Given the description of an element on the screen output the (x, y) to click on. 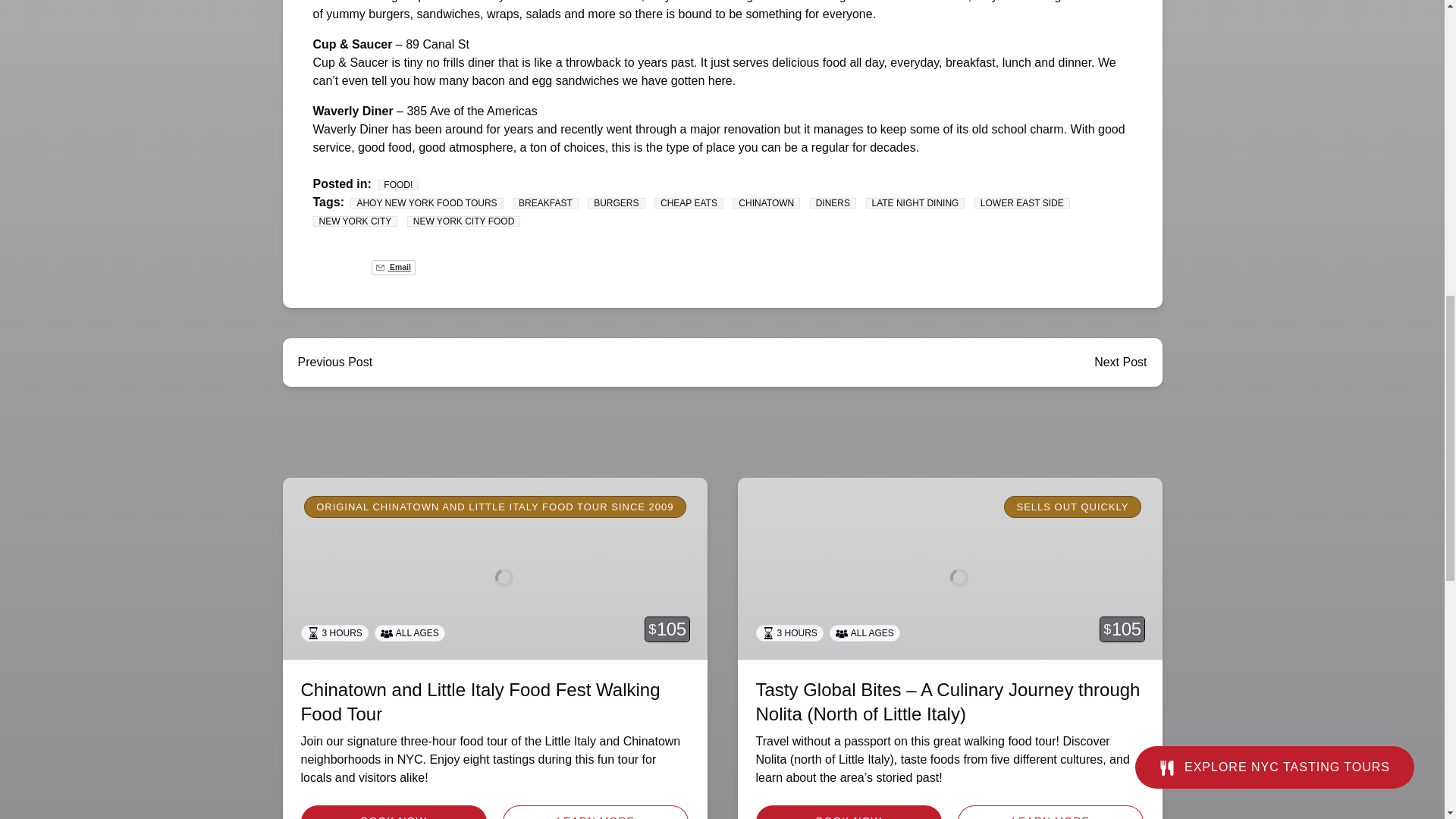
FareHarbor (1342, 64)
LOWER EAST SIDE (1022, 203)
DINERS (832, 203)
BREAKFAST (545, 203)
AHOY NEW YORK FOOD TOURS (426, 203)
CHEAP EATS (688, 203)
BURGERS (616, 203)
CHINATOWN (765, 203)
LATE NIGHT DINING (915, 203)
NEW YORK CITY (355, 221)
